Given the description of an element on the screen output the (x, y) to click on. 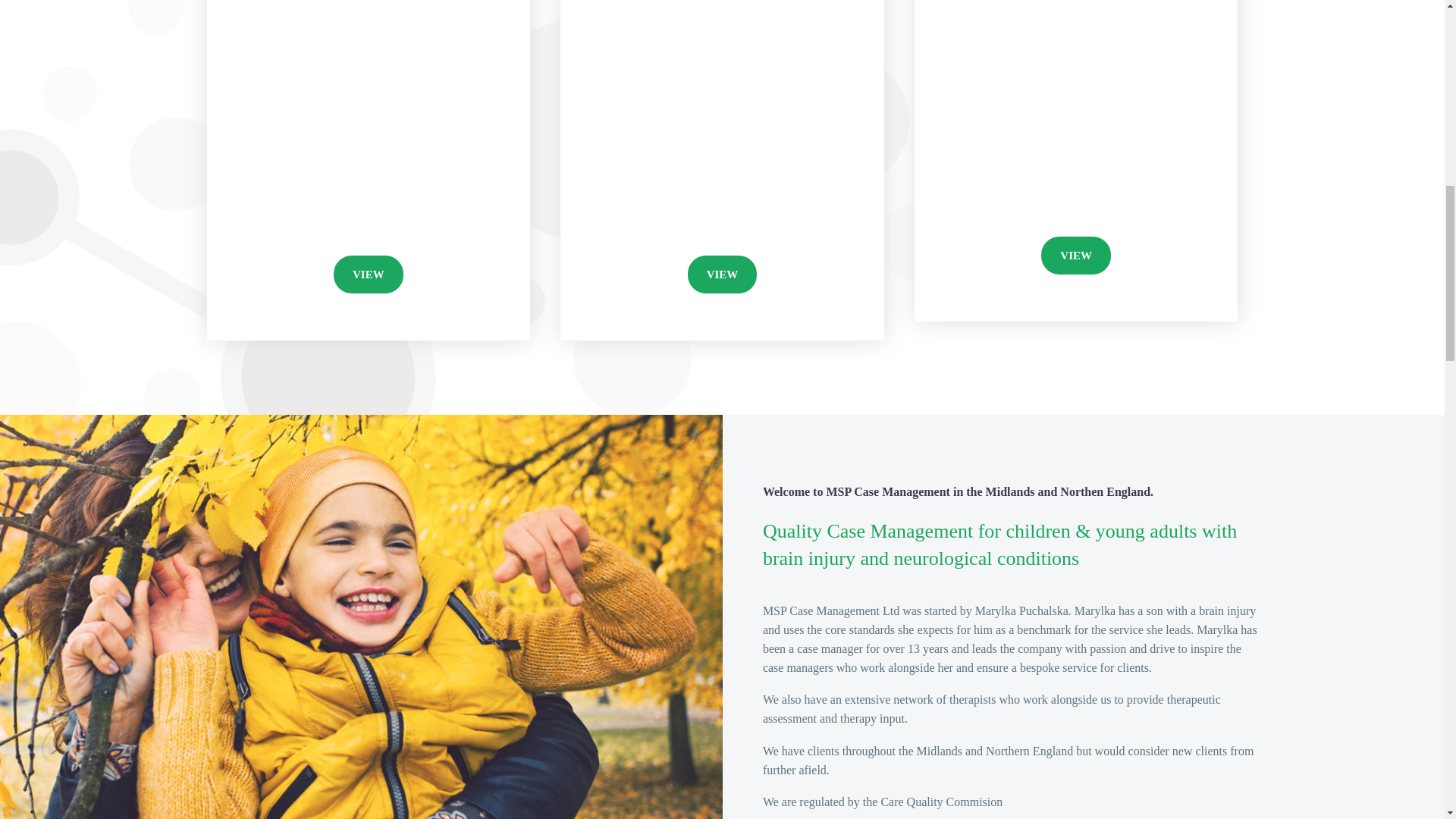
VIEW (1075, 255)
VIEW (368, 274)
VIEW (722, 274)
